Given the description of an element on the screen output the (x, y) to click on. 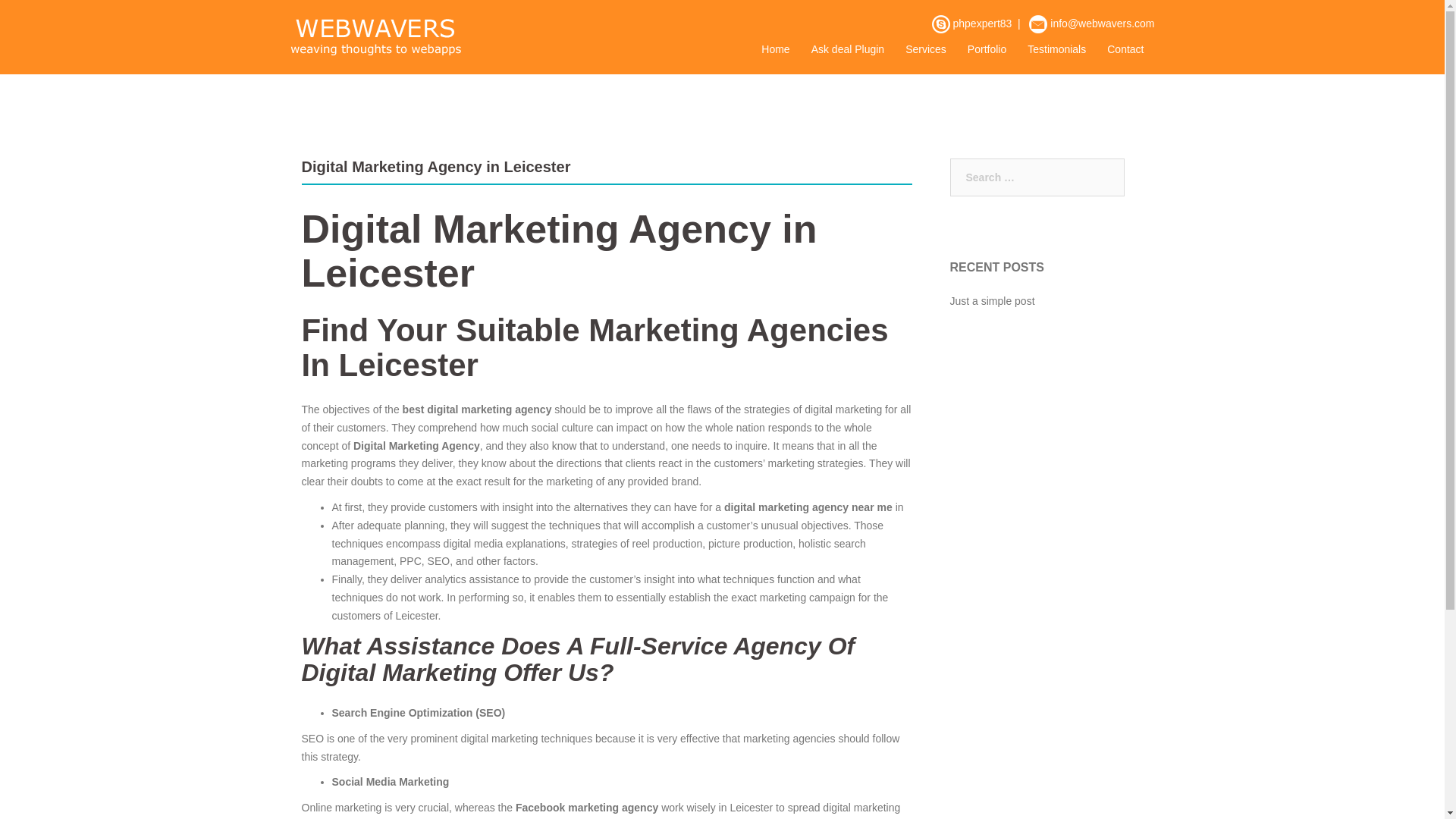
Just a simple post (991, 300)
Portfolio (987, 49)
phpexpert83 (981, 23)
Services (925, 49)
Ask deal Plugin (847, 49)
Contact (1124, 49)
Search (47, 18)
Testimonials (1056, 49)
Web Wavers (374, 36)
Home (775, 49)
